Given the description of an element on the screen output the (x, y) to click on. 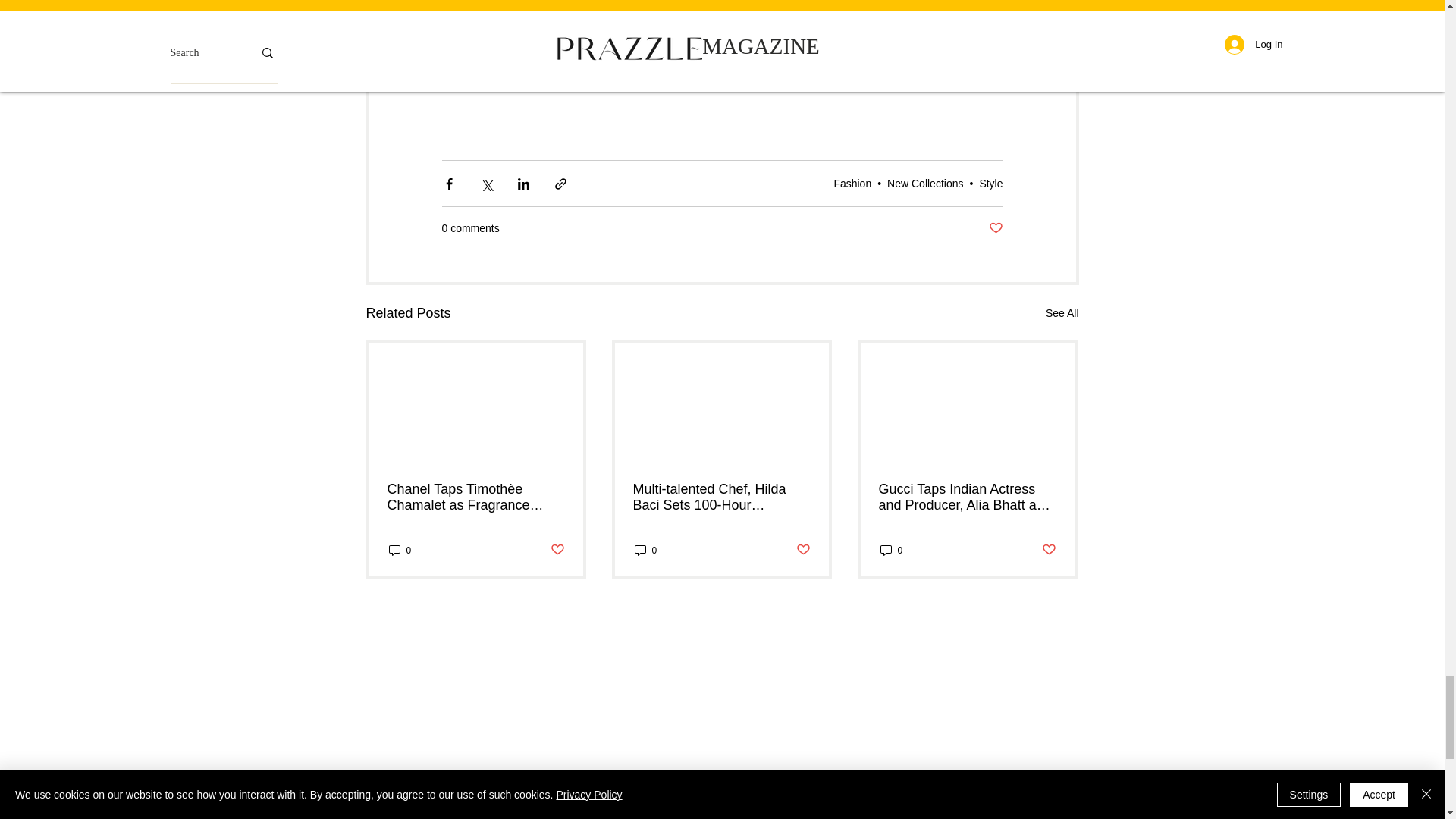
New Collections (924, 183)
See All (1061, 313)
0 (890, 549)
Post not marked as liked (557, 549)
Post not marked as liked (1049, 549)
Post not marked as liked (803, 549)
Style (990, 183)
0 (399, 549)
Post not marked as liked (995, 228)
